Given the description of an element on the screen output the (x, y) to click on. 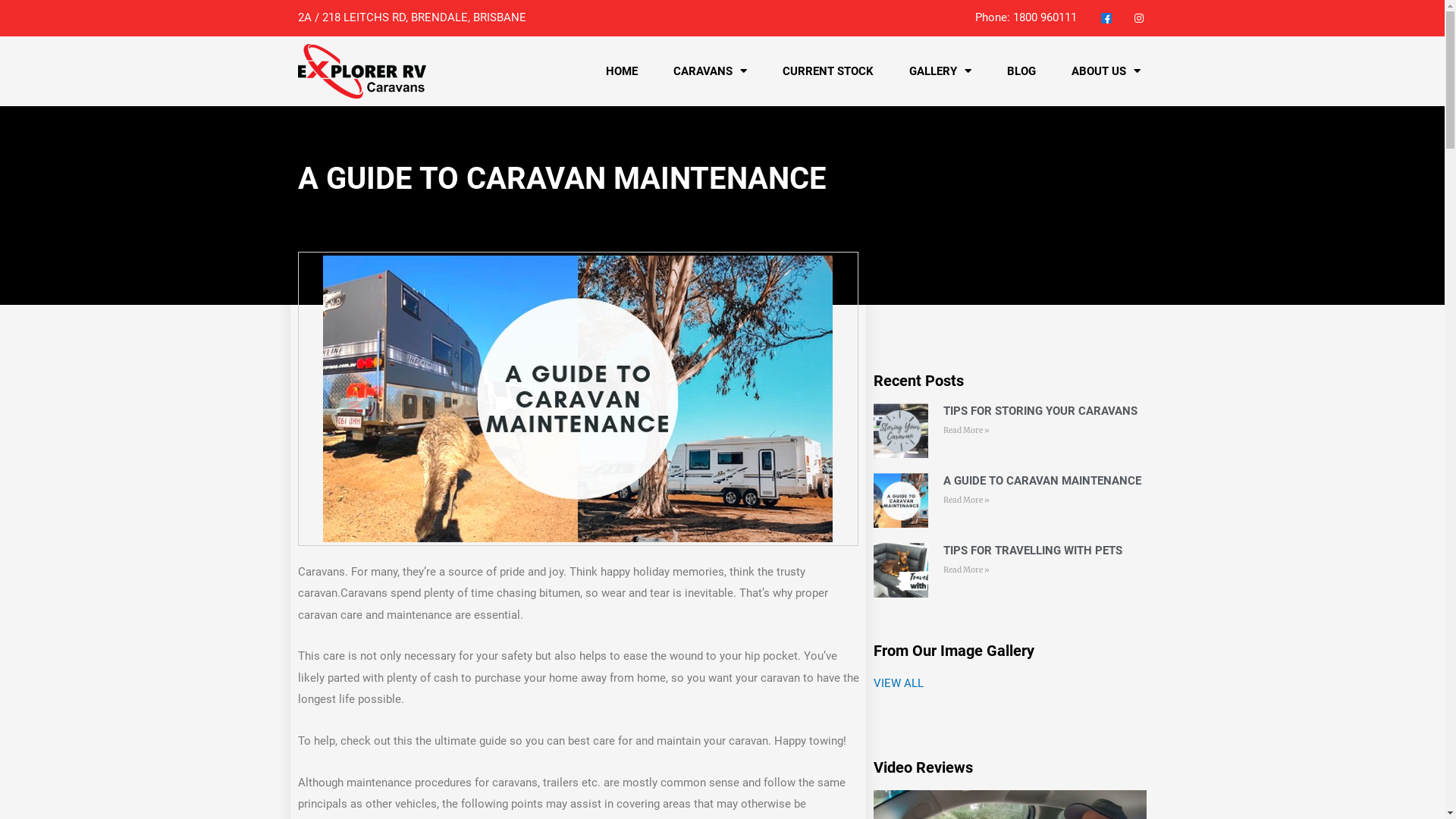
A GUIDE TO CARAVAN MAINTENANCE Element type: text (1042, 480)
BLOG Element type: text (1021, 70)
GALLERY Element type: text (940, 70)
CARAVANS Element type: text (710, 70)
VIEW ALL Element type: text (898, 683)
HOME Element type: text (621, 70)
TIPS FOR TRAVELLING WITH PETS Element type: text (1032, 550)
CURRENT STOCK Element type: text (827, 70)
TIPS FOR STORING YOUR CARAVANS Element type: text (1040, 410)
ABOUT US Element type: text (1105, 70)
